Given the description of an element on the screen output the (x, y) to click on. 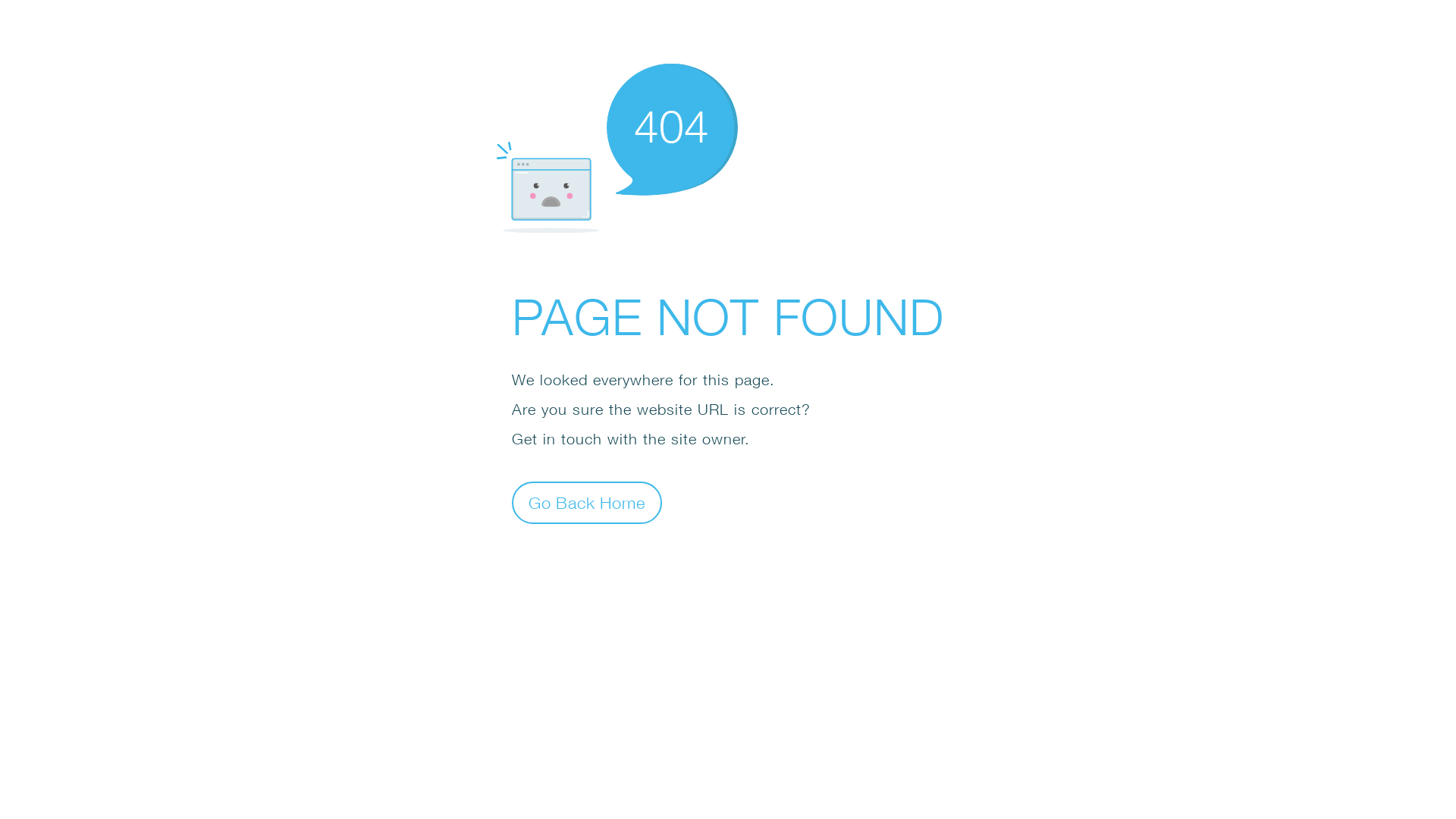
Go Back Home Element type: text (586, 502)
